Given the description of an element on the screen output the (x, y) to click on. 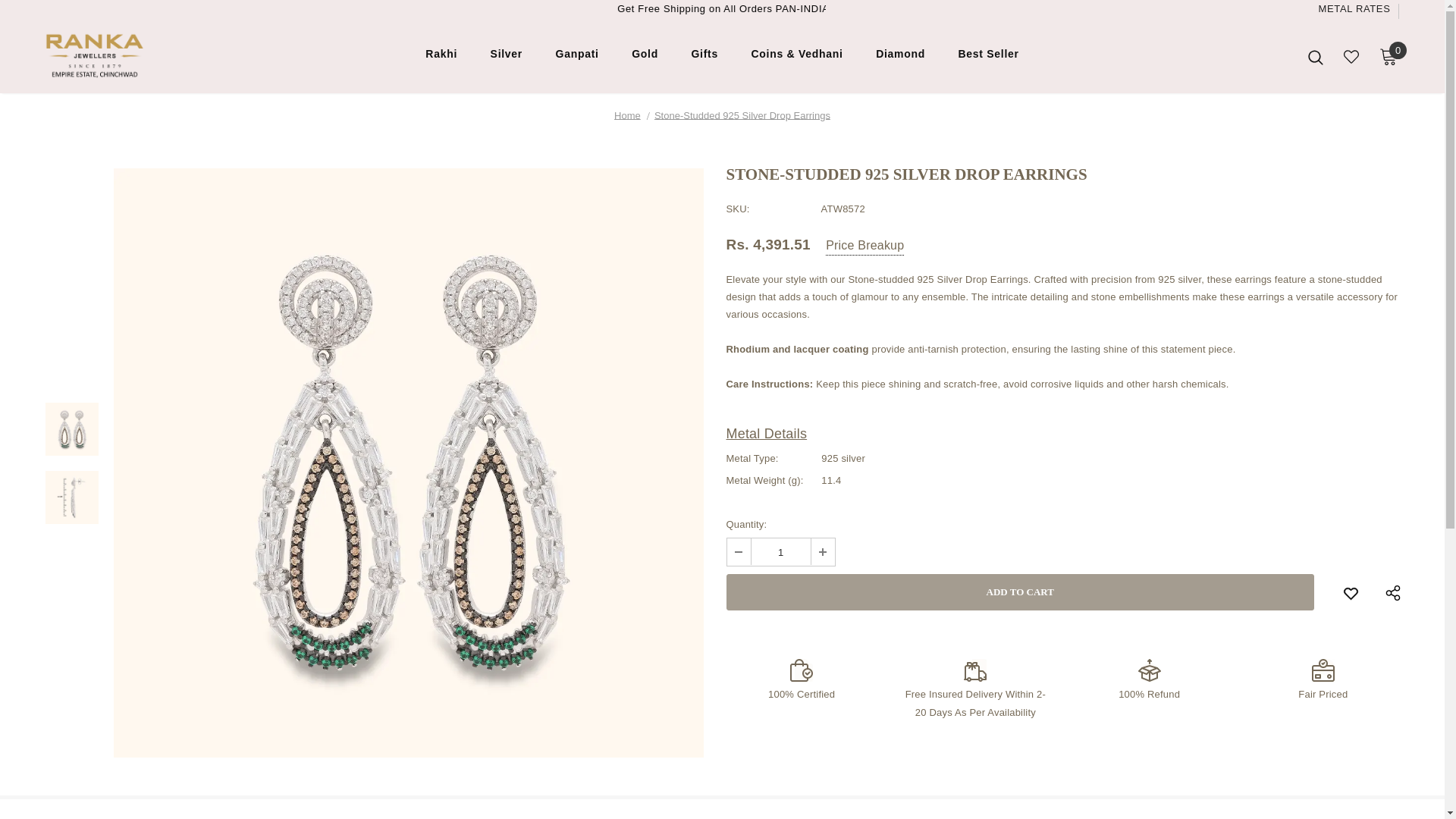
Logo (134, 55)
Diamond (900, 57)
Search Icon (1315, 56)
Best Seller (988, 57)
Ganpati (577, 57)
1 (780, 551)
Add to cart (1020, 592)
